Given the description of an element on the screen output the (x, y) to click on. 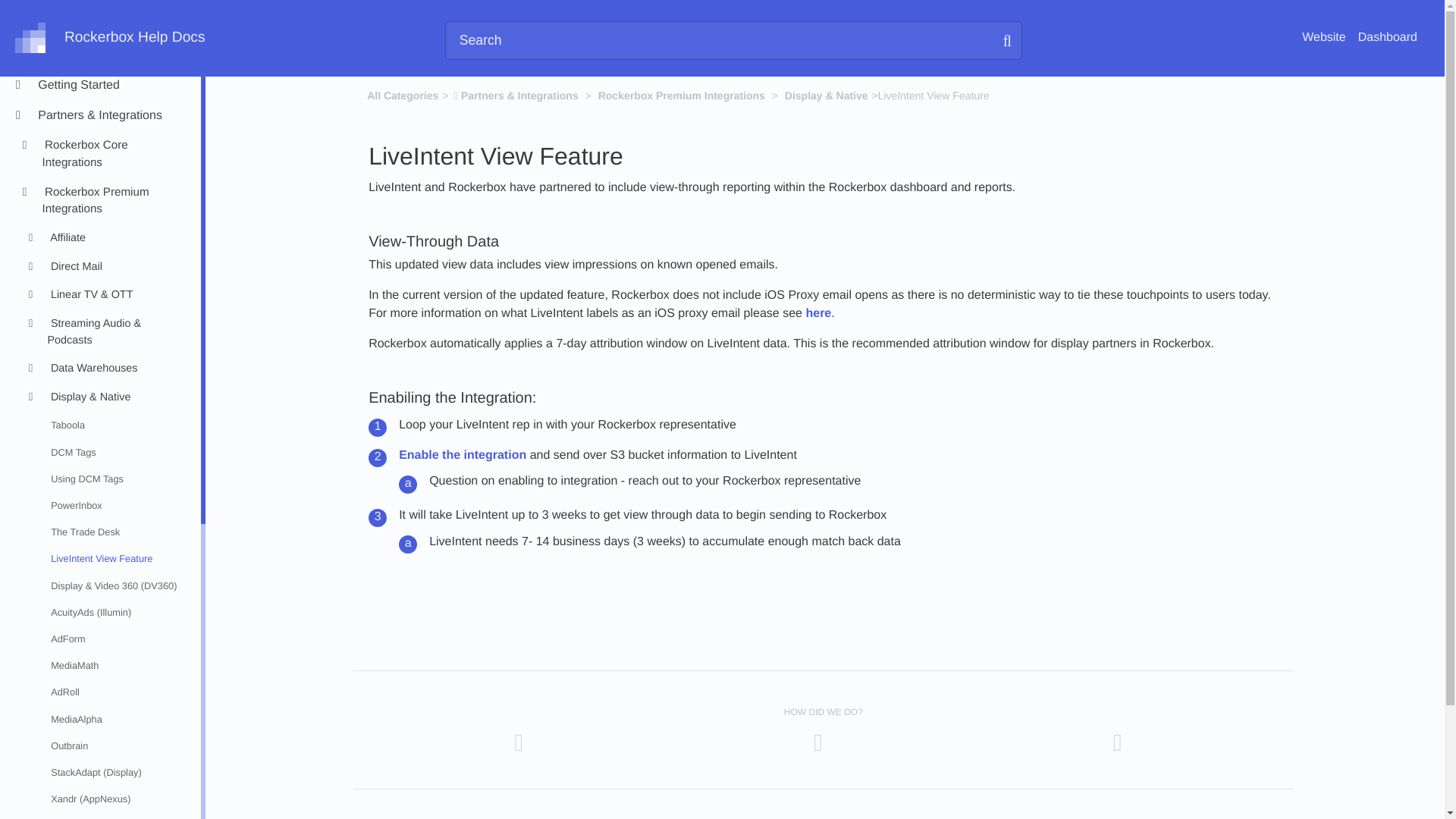
Rockerbox Help Docs (109, 37)
Dashboard (1387, 37)
Getting Started (112, 85)
Website (1323, 37)
